Given the description of an element on the screen output the (x, y) to click on. 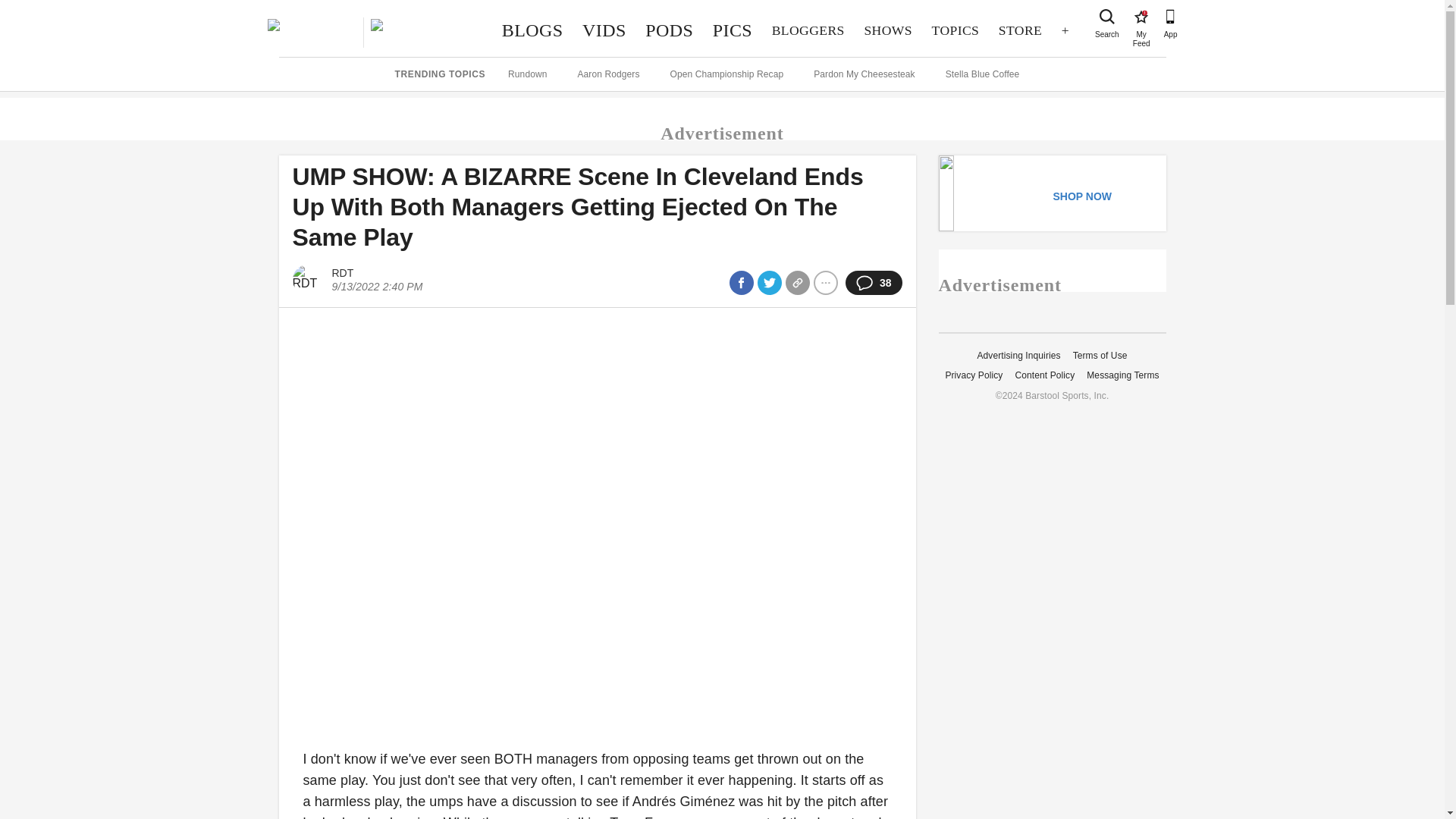
BLOGS (1141, 16)
TOPICS (532, 30)
Search (954, 30)
PODS (1107, 16)
SHOWS (668, 30)
BLOGGERS (887, 30)
PICS (807, 30)
VIDS (732, 30)
STORE (603, 30)
